Given the description of an element on the screen output the (x, y) to click on. 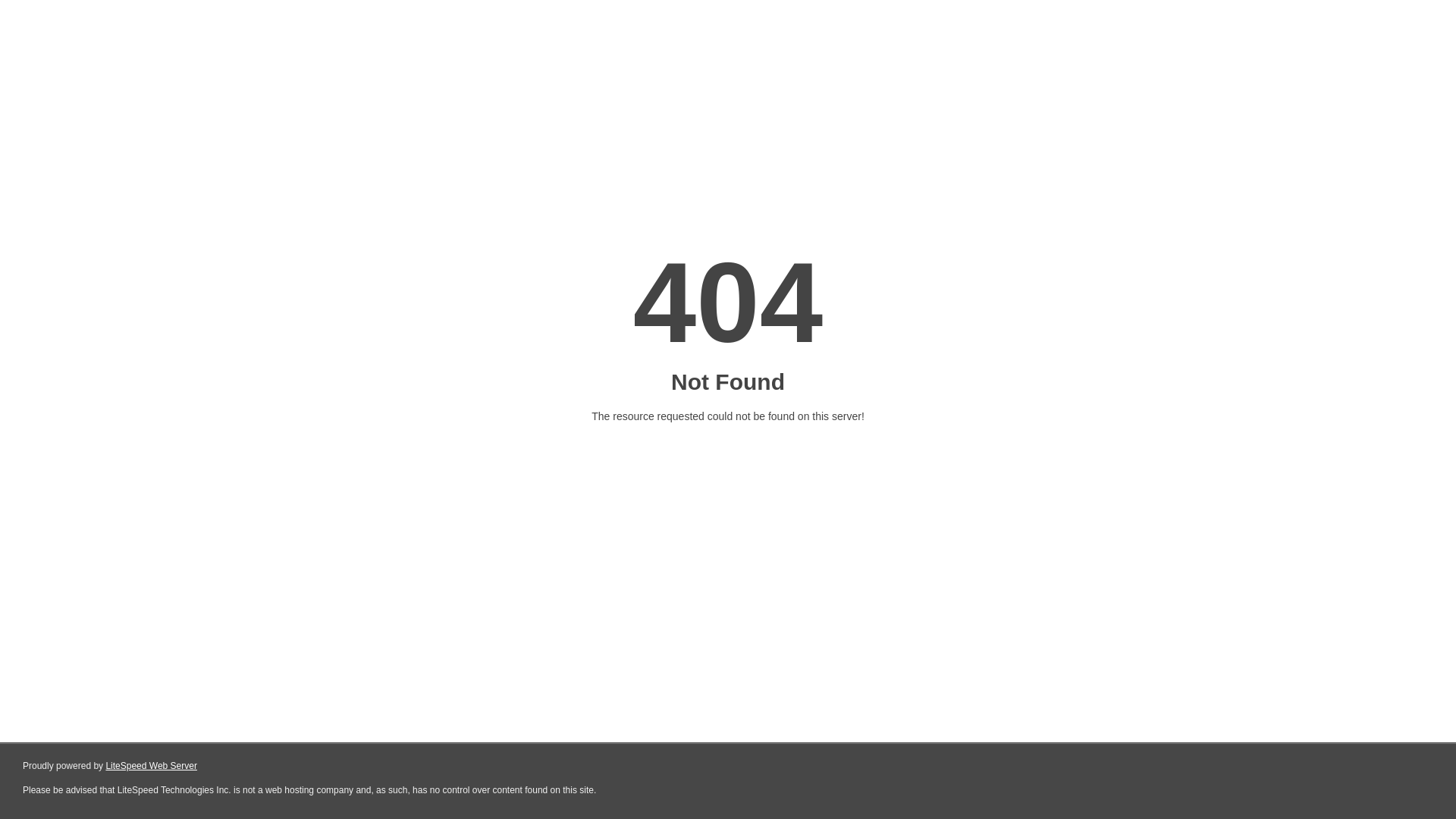
LiteSpeed Web Server Element type: text (151, 765)
